Given the description of an element on the screen output the (x, y) to click on. 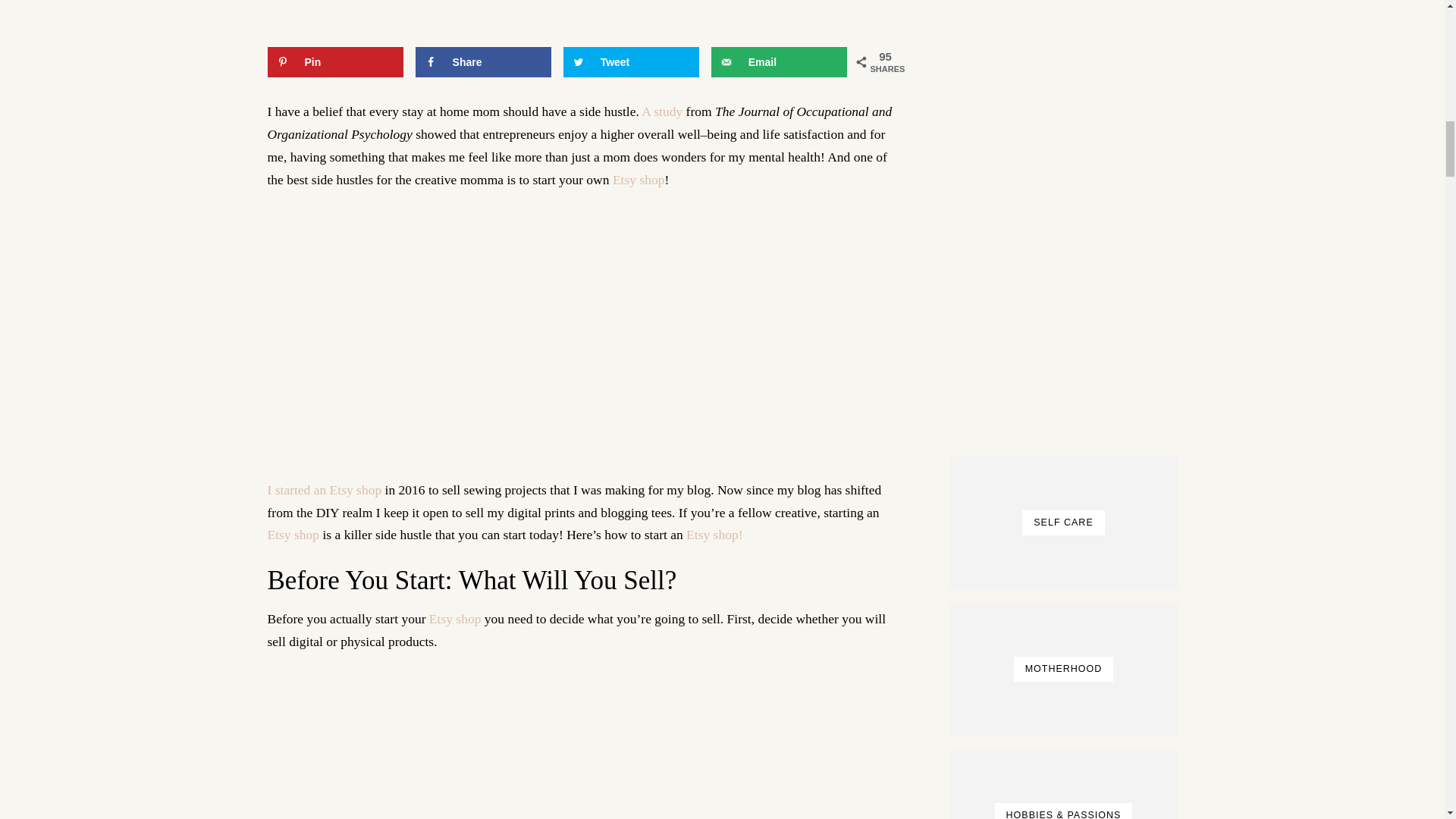
Save to Pinterest (334, 61)
Send over email (779, 61)
Share on Facebook (482, 61)
Share on Twitter (631, 61)
